Given the description of an element on the screen output the (x, y) to click on. 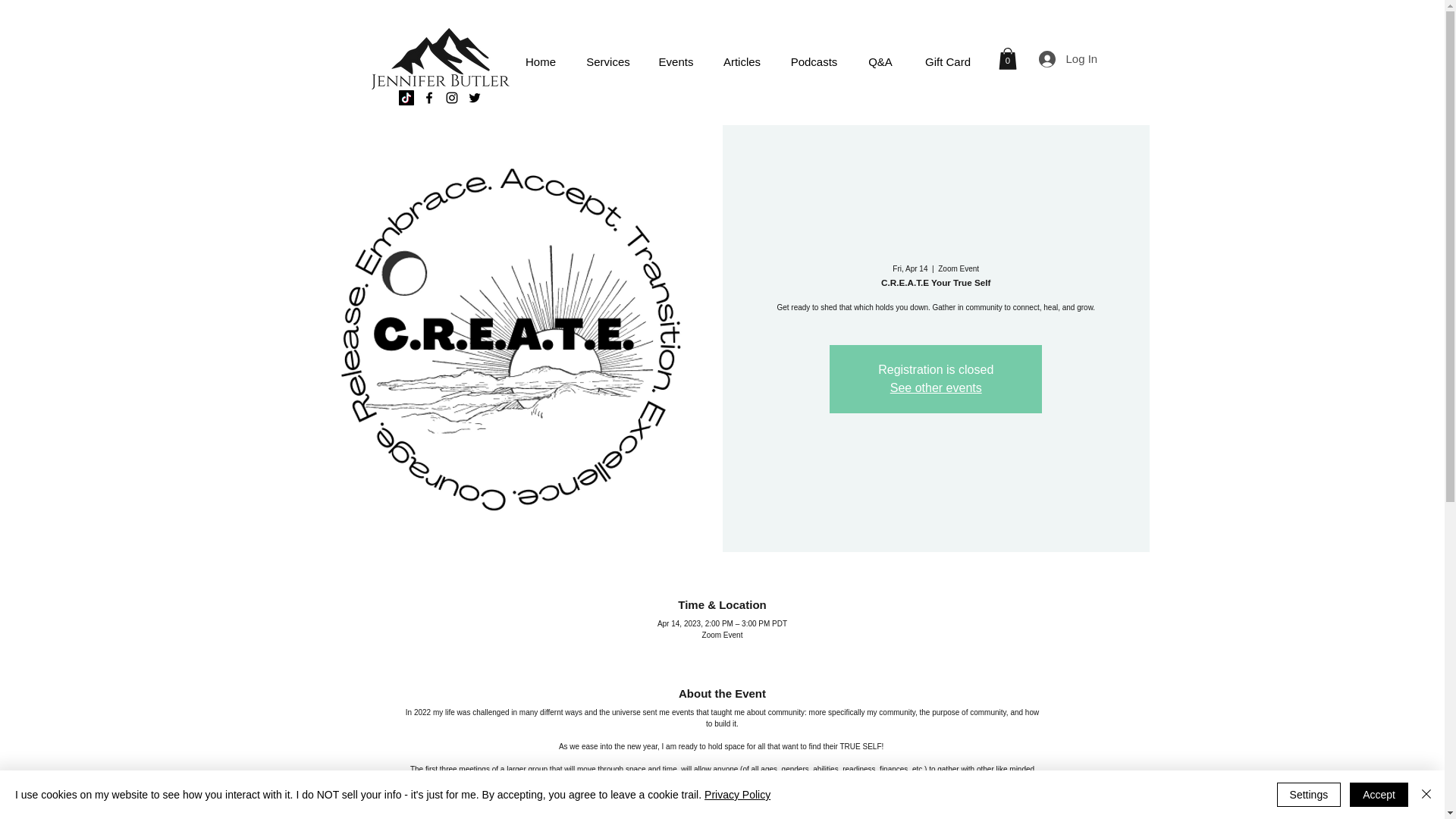
Log In (1058, 59)
Privacy Policy (737, 794)
Home (540, 62)
Podcasts (813, 62)
Articles (741, 62)
Events (676, 62)
Settings (1308, 794)
Services (607, 62)
Gift Card (947, 62)
Accept (1378, 794)
See other events (935, 387)
